Given the description of an element on the screen output the (x, y) to click on. 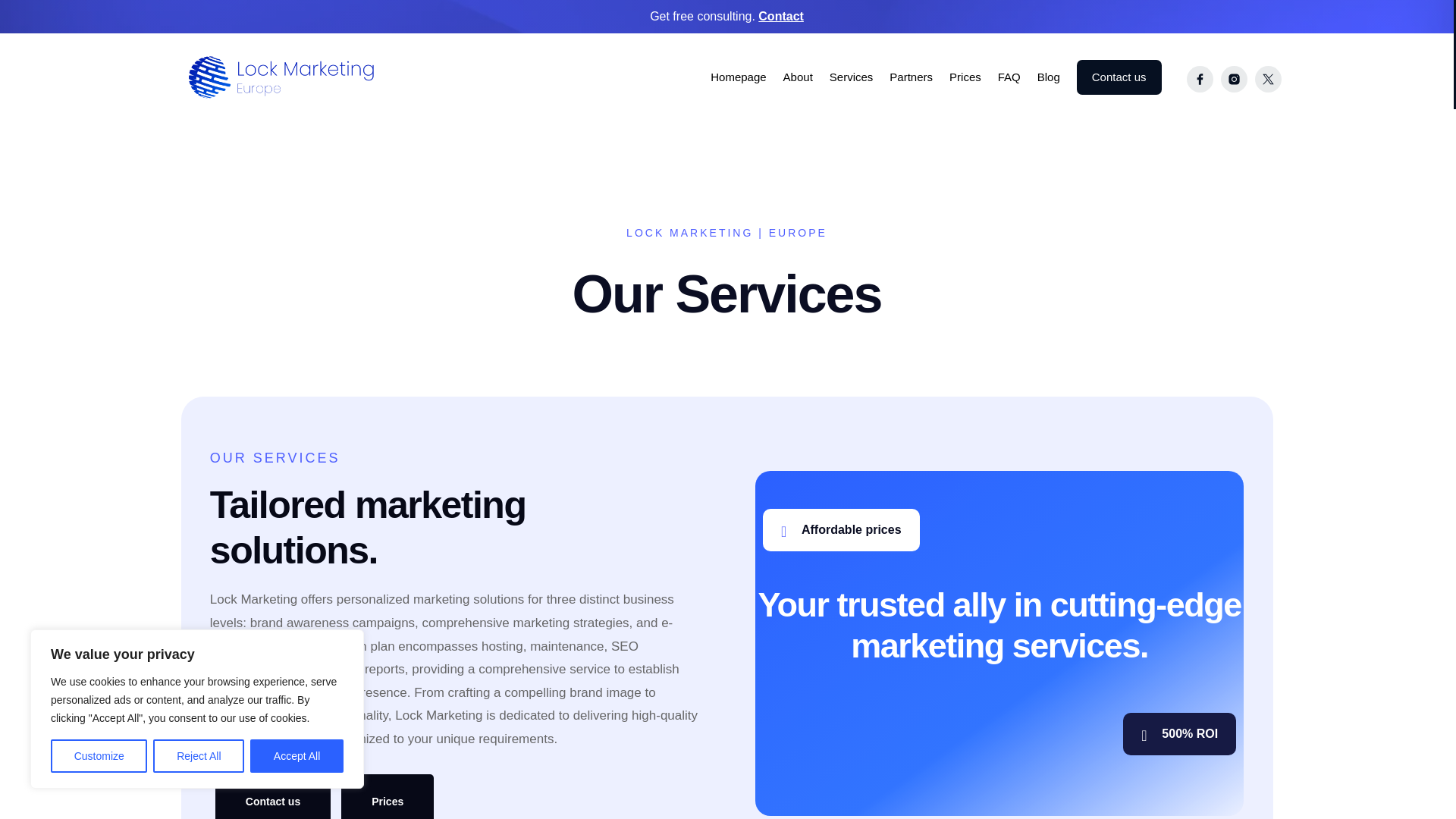
Contact us (1119, 77)
Homepage (737, 77)
Reject All (198, 756)
Accept All (296, 756)
Customize (98, 756)
Contact (780, 15)
